Given the description of an element on the screen output the (x, y) to click on. 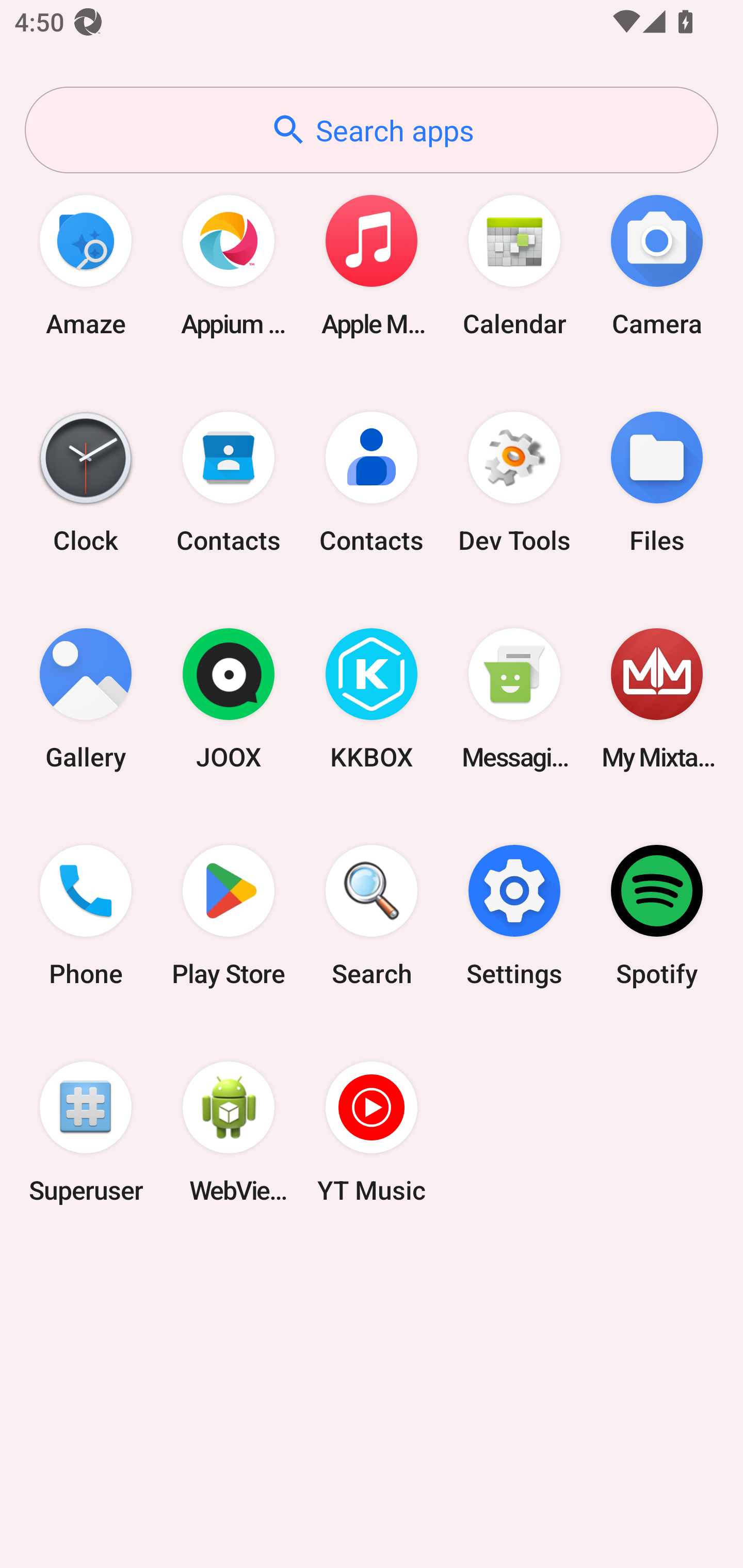
  Search apps (371, 130)
Amaze (85, 264)
Appium Settings (228, 264)
Apple Music (371, 264)
Calendar (514, 264)
Camera (656, 264)
Clock (85, 482)
Contacts (228, 482)
Contacts (371, 482)
Dev Tools (514, 482)
Files (656, 482)
Gallery (85, 699)
JOOX (228, 699)
KKBOX (371, 699)
Messaging (514, 699)
My Mixtapez (656, 699)
Phone (85, 915)
Play Store (228, 915)
Search (371, 915)
Settings (514, 915)
Spotify (656, 915)
Superuser (85, 1131)
WebView Browser Tester (228, 1131)
YT Music (371, 1131)
